Given the description of an element on the screen output the (x, y) to click on. 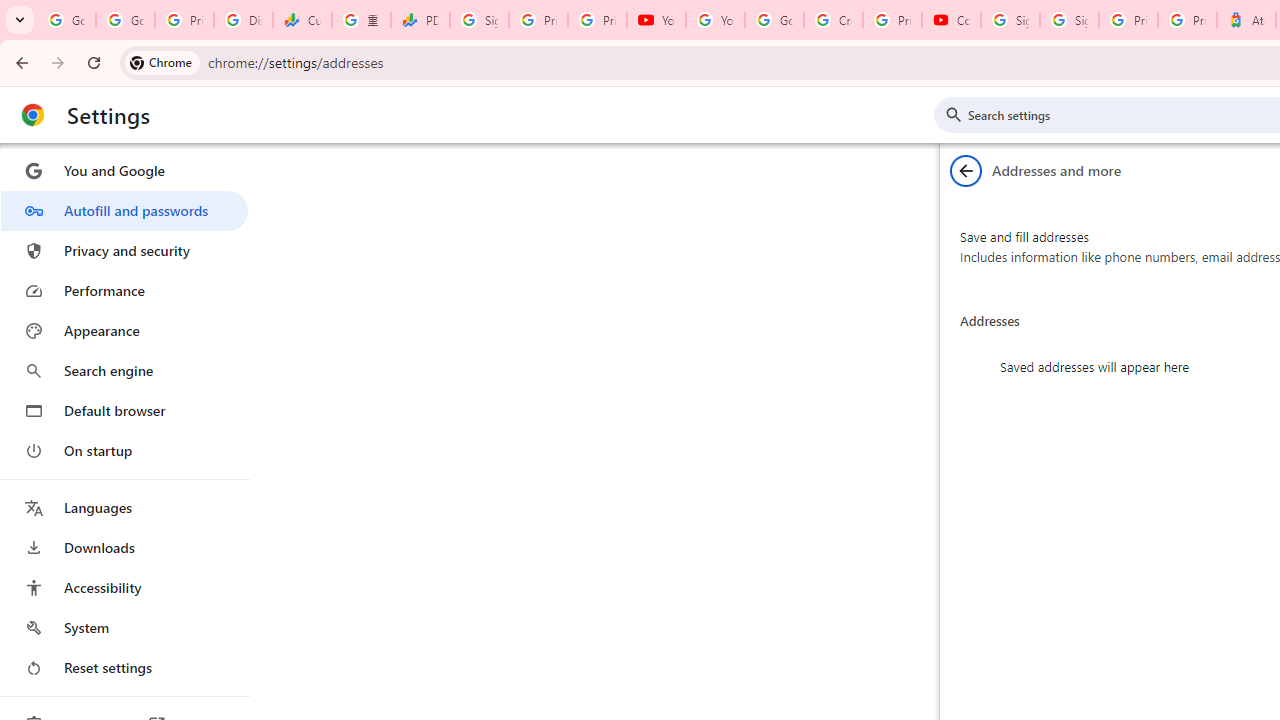
YouTube (715, 20)
Content Creator Programs & Opportunities - YouTube Creators (950, 20)
Autofill and passwords (124, 210)
Privacy Checkup (597, 20)
Downloads (124, 547)
Appearance (124, 331)
YouTube (656, 20)
